Given the description of an element on the screen output the (x, y) to click on. 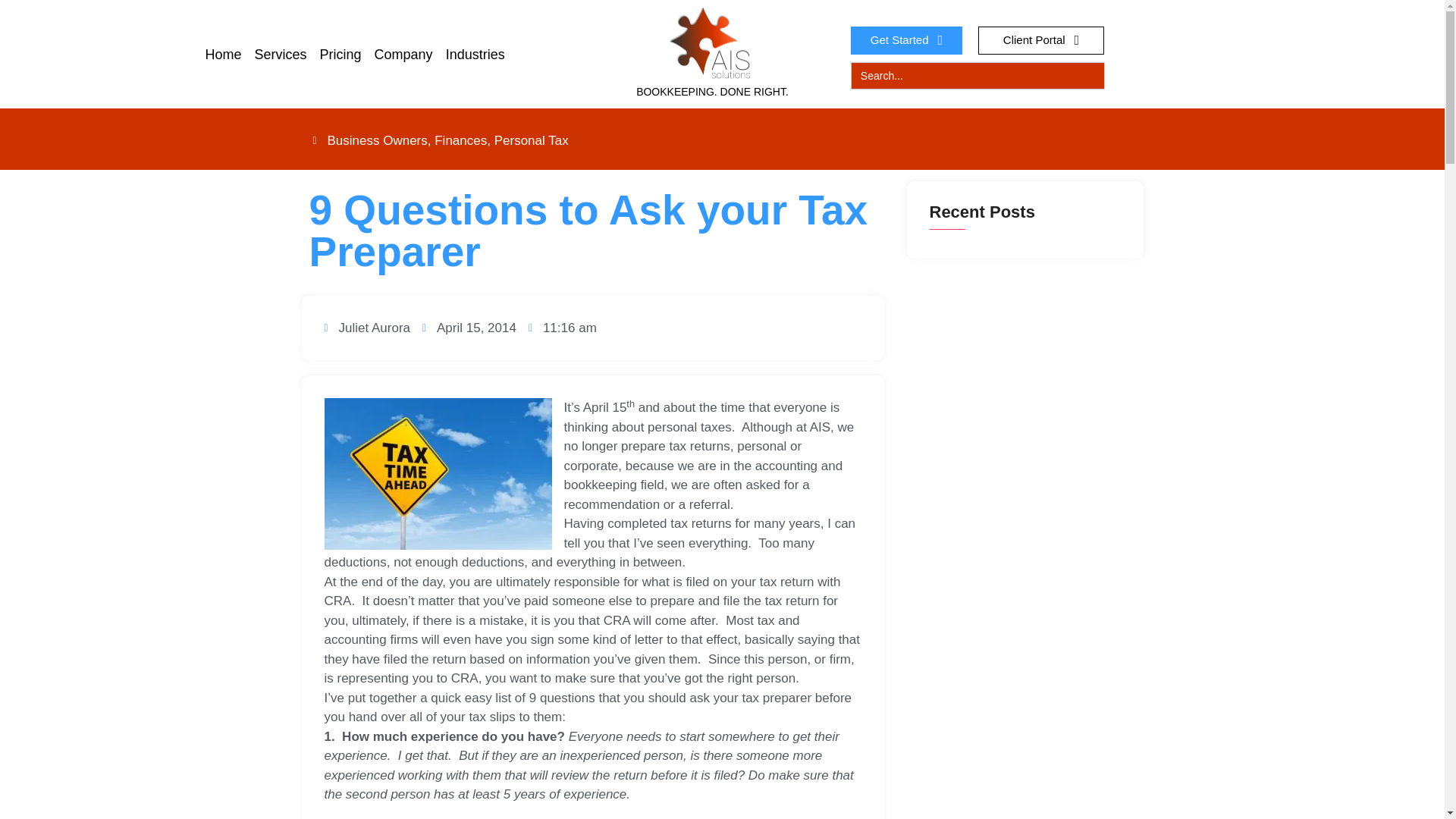
Services (280, 54)
Industries (475, 54)
Pricing (341, 54)
Home (222, 54)
Company (403, 54)
